Given the description of an element on the screen output the (x, y) to click on. 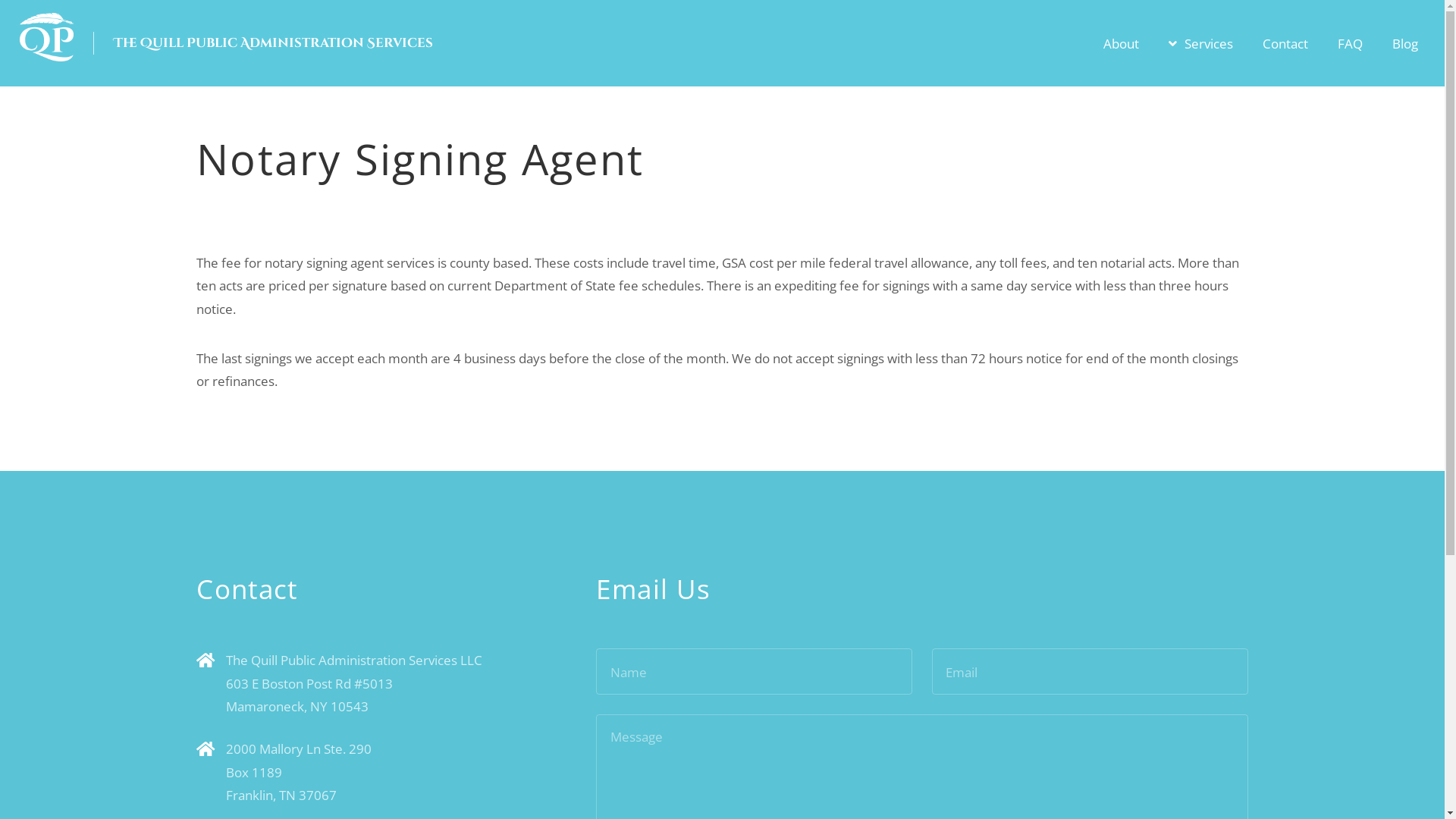
Services Element type: text (1200, 43)
About Element type: text (1121, 43)
Blog Element type: text (1405, 43)
Contact Element type: text (1285, 43)
FAQ Element type: text (1349, 43)
